Given the description of an element on the screen output the (x, y) to click on. 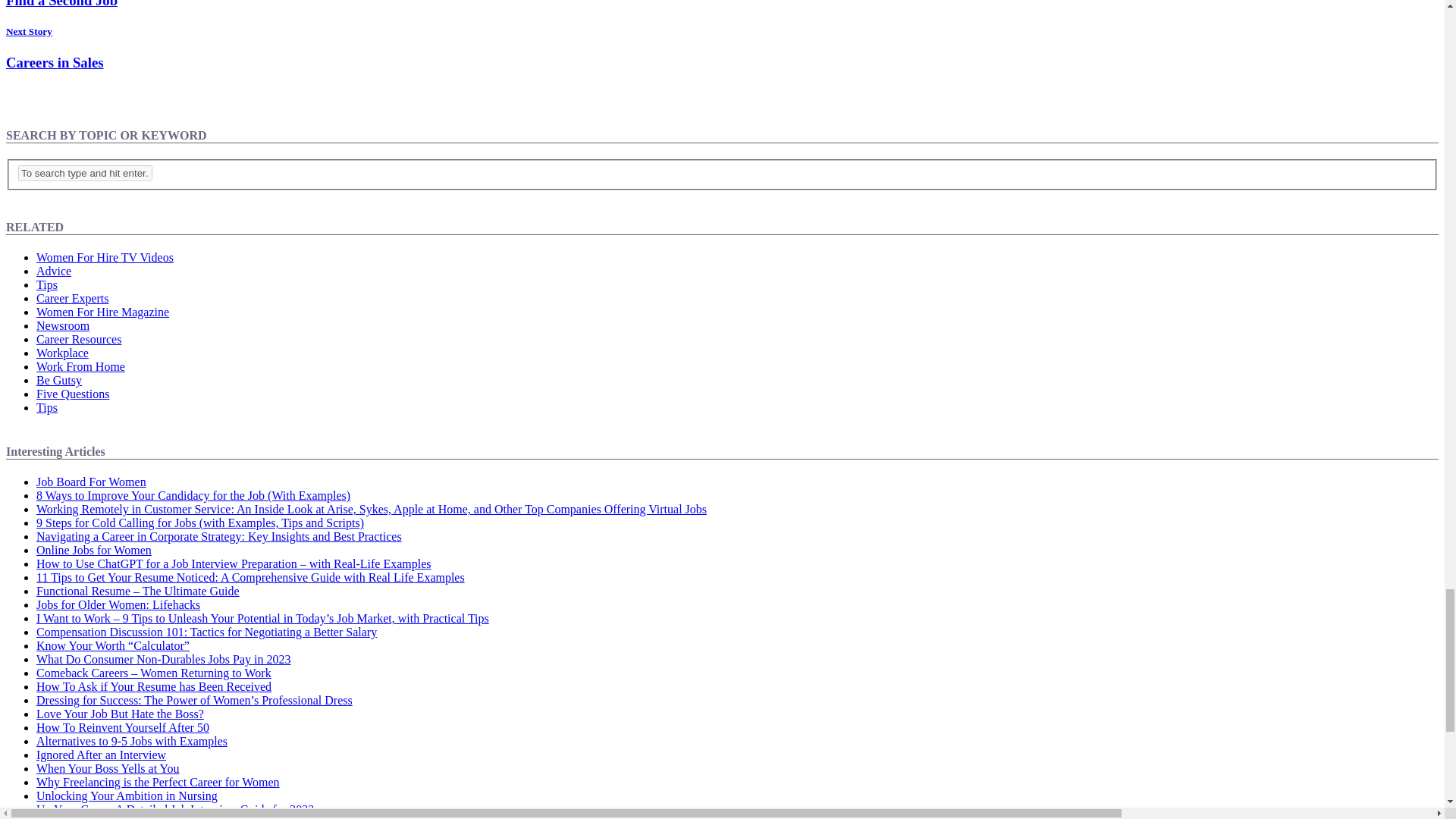
Job Board For Women (91, 481)
To search type and hit enter... (84, 172)
